Given the description of an element on the screen output the (x, y) to click on. 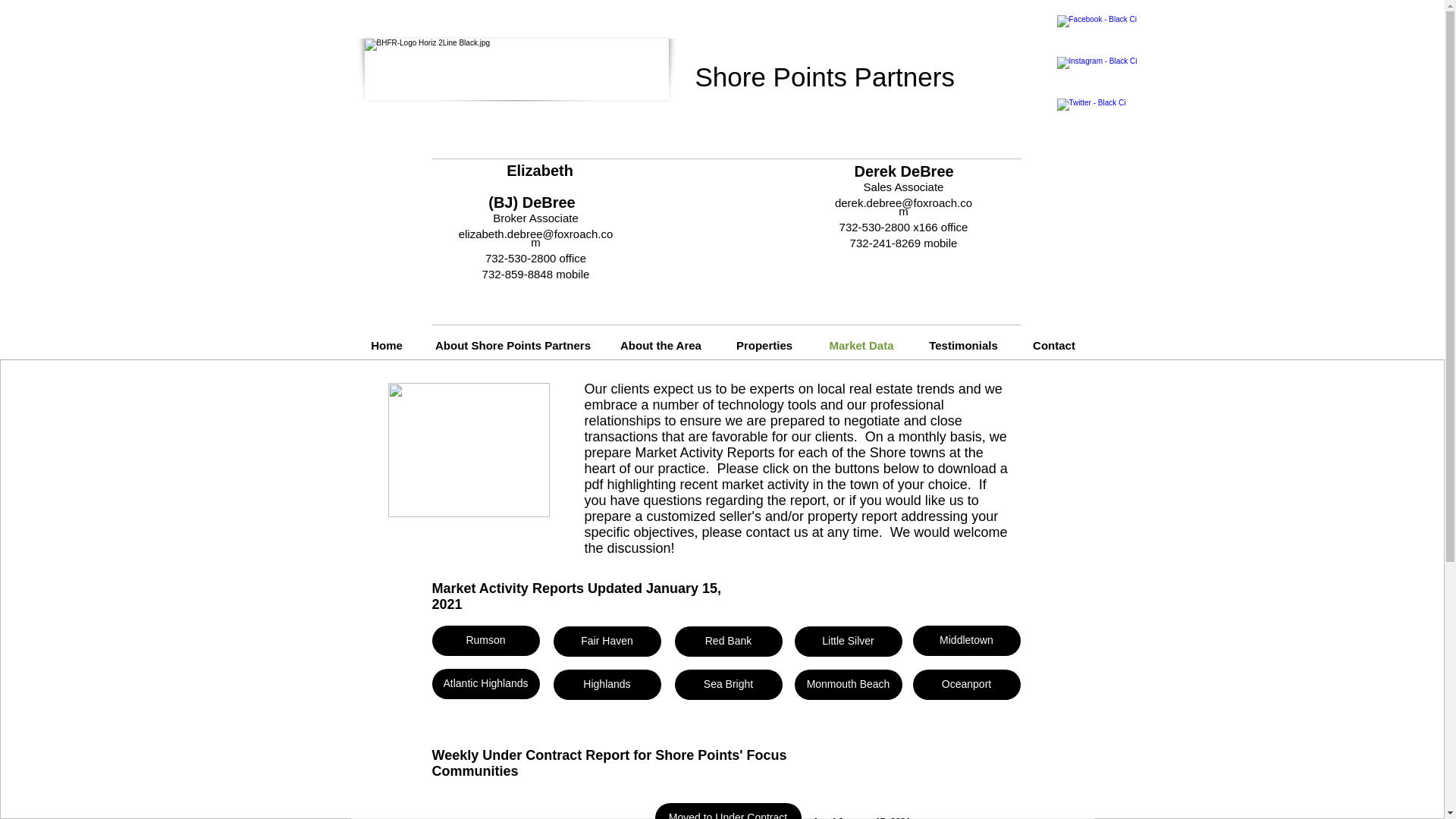
Moved to Under Contract (728, 811)
Sea Bright (729, 684)
Testimonials (963, 345)
Oceanport (966, 684)
Fair Haven (607, 641)
Highlands (607, 684)
Contact (1054, 345)
Derek DeBree (903, 170)
About Shore Points Partners (513, 345)
Red Bank (729, 641)
